Given the description of an element on the screen output the (x, y) to click on. 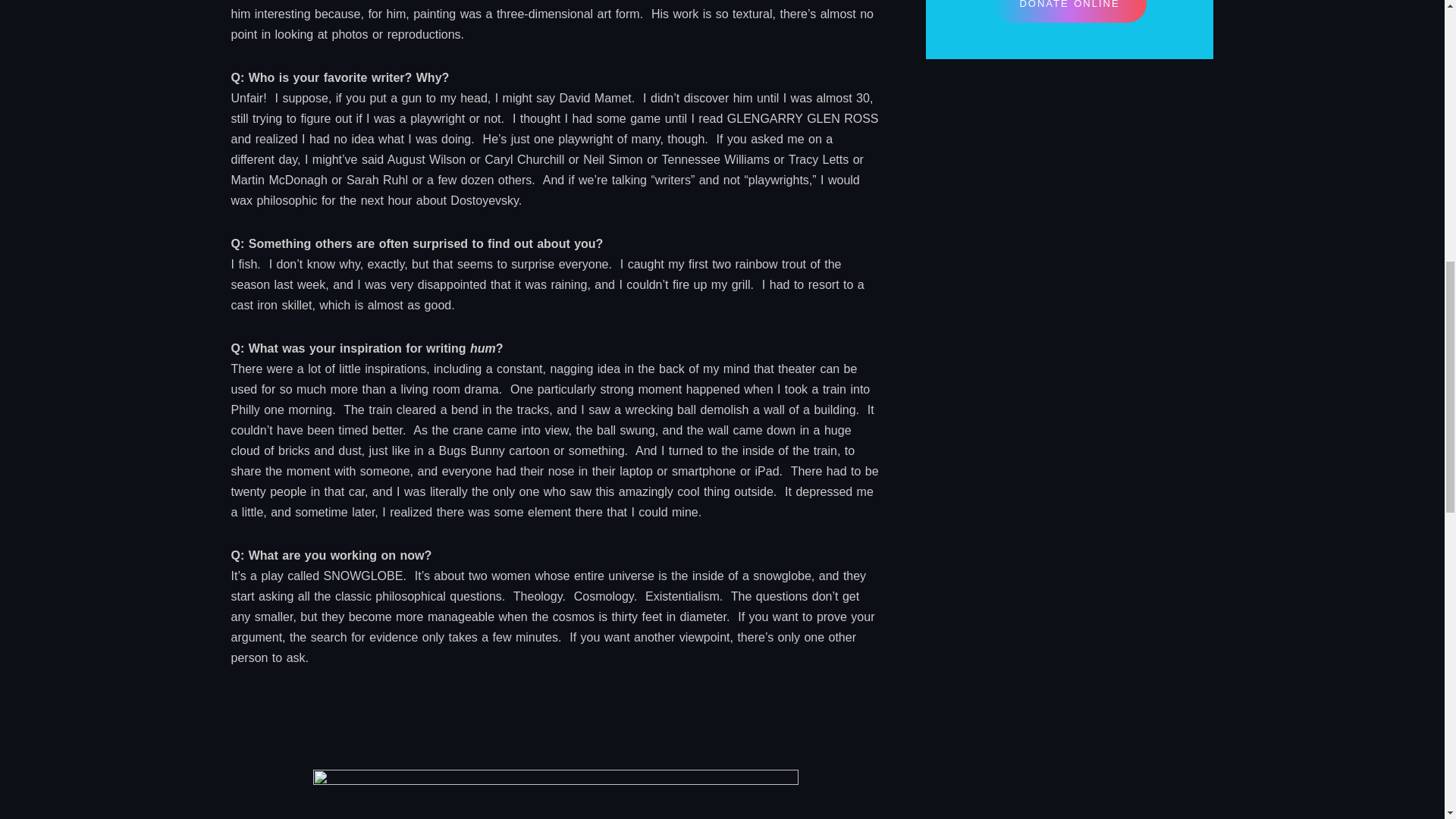
Hum (555, 794)
